Given the description of an element on the screen output the (x, y) to click on. 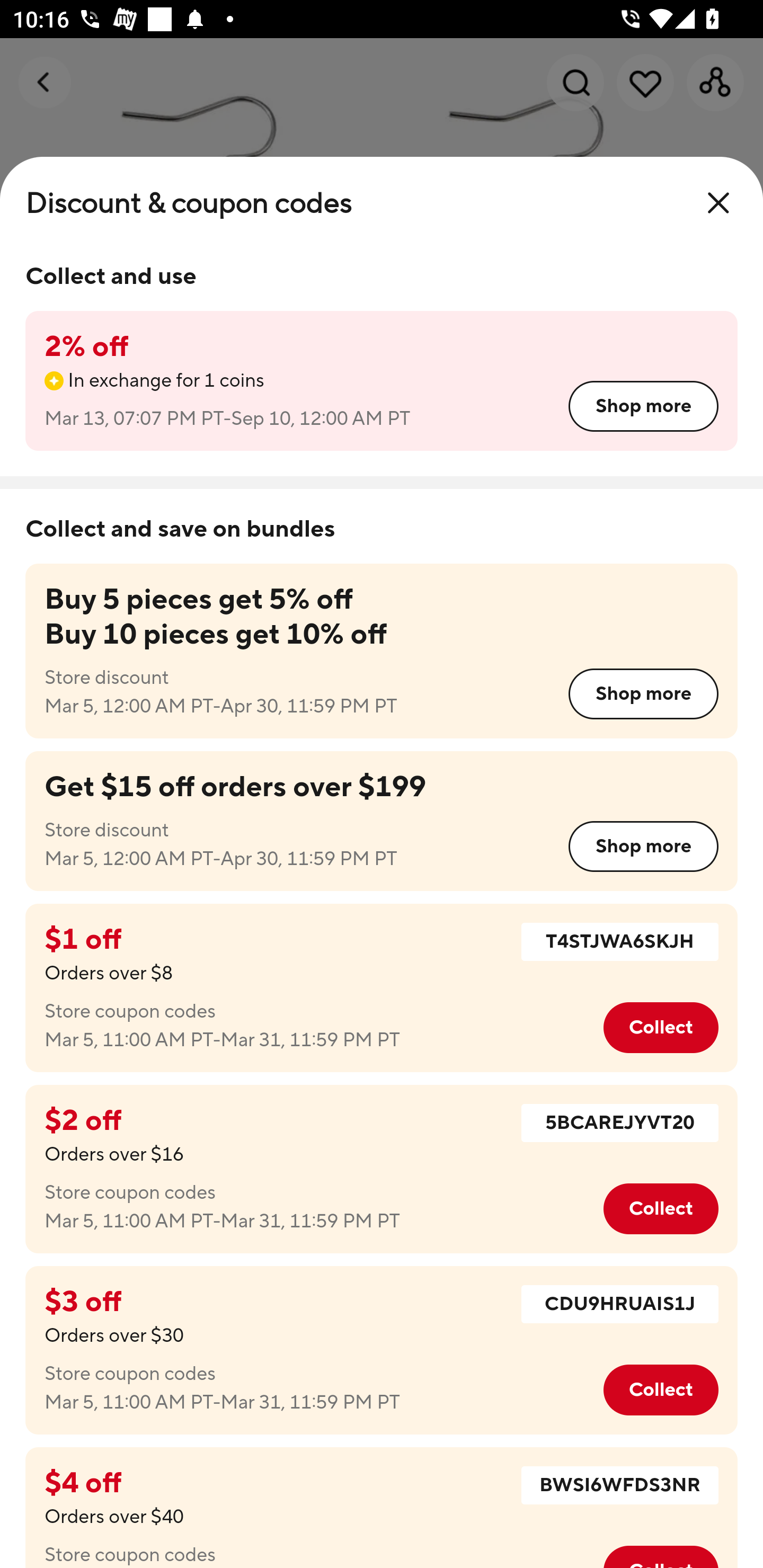
 (718, 202)
Shop more (642, 406)
Shop more (642, 693)
Shop more (642, 846)
Collect (660, 1027)
Collect (660, 1208)
Collect (660, 1389)
